Given the description of an element on the screen output the (x, y) to click on. 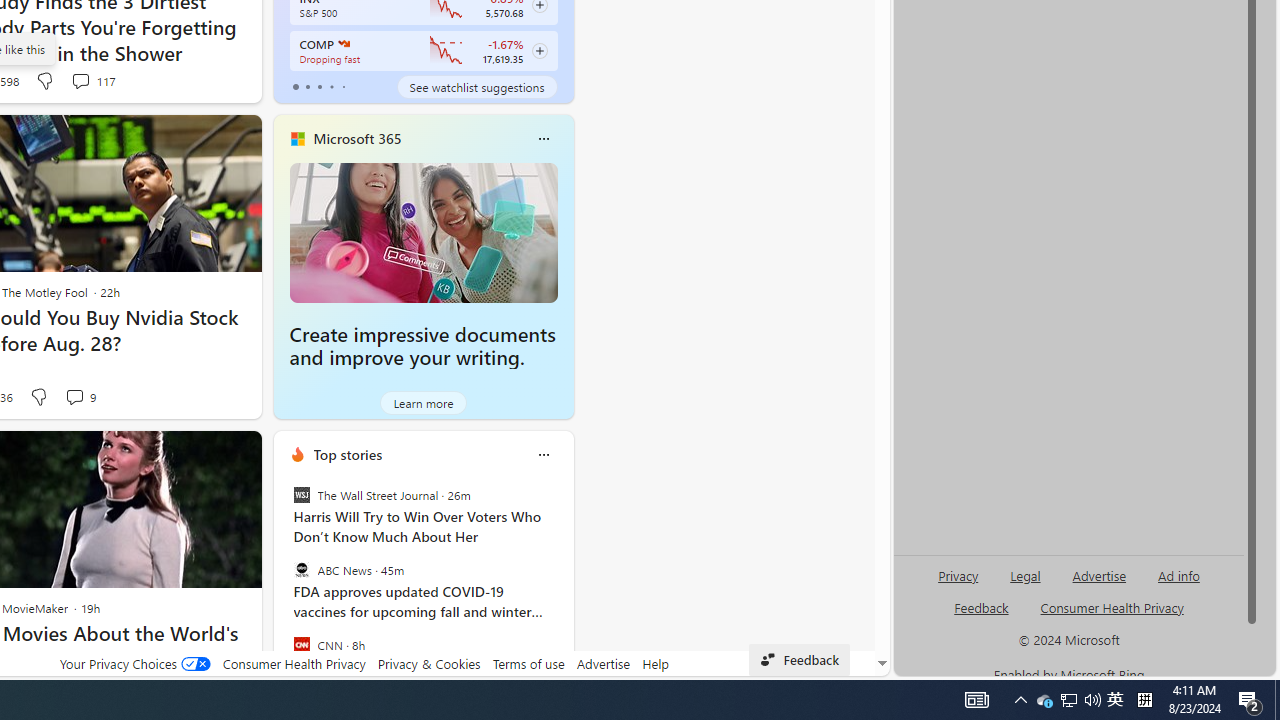
AutomationID: genId96 (981, 615)
Terms of use (527, 663)
NASDAQ (342, 43)
previous (283, 583)
Hide this story (201, 454)
tab-4 (342, 86)
View comments 9 Comment (79, 397)
